Given the description of an element on the screen output the (x, y) to click on. 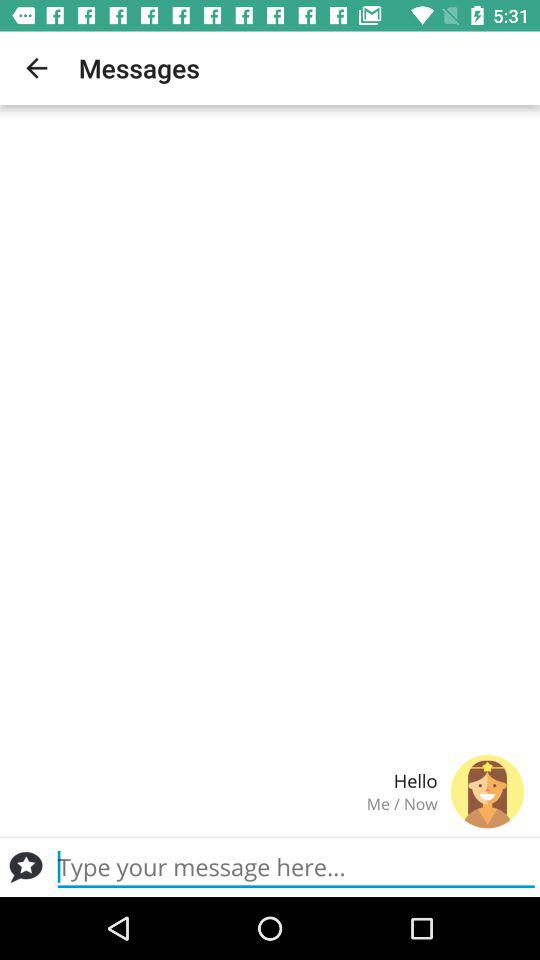
launch icon to the right of hello icon (487, 791)
